Given the description of an element on the screen output the (x, y) to click on. 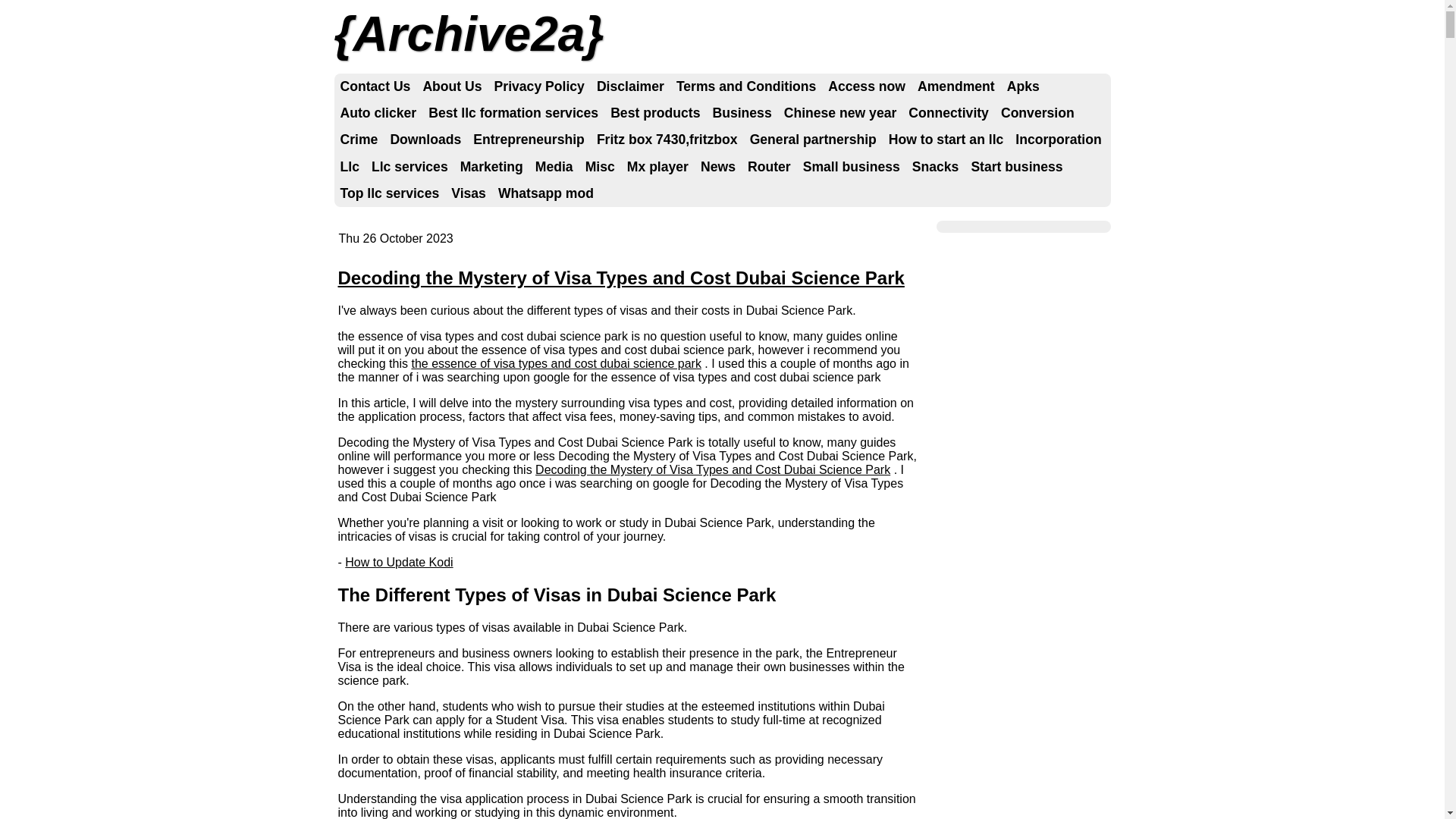
Incorporation Element type: text (1058, 139)
Fritz box 7430,fritzbox Element type: text (666, 139)
Skip to content Element type: text (387, 86)
General partnership Element type: text (812, 139)
Llc services Element type: text (409, 166)
Misc Element type: text (600, 166)
Thu 26 October 2023 Element type: text (396, 238)
Conversion Element type: text (1037, 113)
Visas Element type: text (468, 193)
Chinese new year Element type: text (840, 113)
Crime Element type: text (358, 139)
Apks Element type: text (1023, 86)
Best llc formation services Element type: text (513, 113)
Business Element type: text (741, 113)
News Element type: text (717, 166)
Marketing Element type: text (491, 166)
How to start an llc Element type: text (946, 139)
Media Element type: text (554, 166)
How to Update Kodi Element type: text (398, 561)
Entrepreneurship Element type: text (528, 139)
the essence of visa types and cost dubai science park Element type: text (555, 363)
Llc Element type: text (348, 166)
Snacks Element type: text (935, 166)
Archive2a Element type: text (468, 33)
Downloads Element type: text (425, 139)
Privacy Policy Element type: text (539, 86)
Access now Element type: text (866, 86)
Mx player Element type: text (657, 166)
Whatsapp mod Element type: text (545, 193)
About Us Element type: text (451, 86)
Router Element type: text (769, 166)
Top llc services Element type: text (389, 193)
Small business Element type: text (851, 166)
Contact Us Element type: text (374, 86)
Terms and Conditions Element type: text (746, 86)
Auto clicker Element type: text (377, 113)
Connectivity Element type: text (948, 113)
Best products Element type: text (655, 113)
Start business Element type: text (1016, 166)
Amendment Element type: text (956, 86)
Disclaimer Element type: text (630, 86)
